Given the description of an element on the screen output the (x, y) to click on. 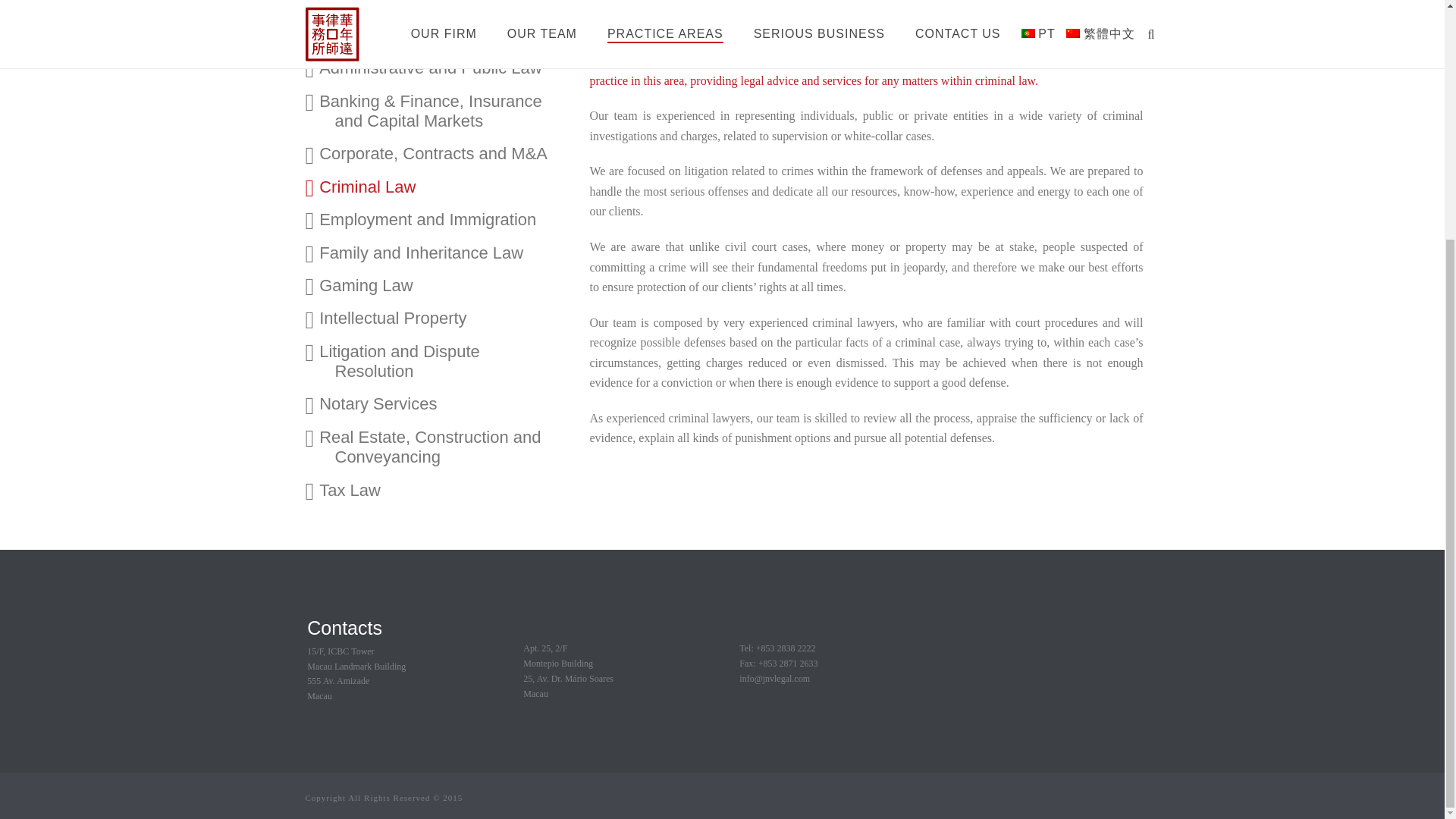
Notary Services (445, 403)
Gaming Law (445, 285)
Litigation and Dispute Resolution (445, 361)
Employment and Immigration (445, 219)
Intellectual Property (445, 317)
Administrative and Public Law (445, 68)
Criminal Law (445, 186)
Tax Law (445, 490)
Real Estate, Construction and Conveyancing (445, 447)
Family and Inheritance Law (445, 253)
